Given the description of an element on the screen output the (x, y) to click on. 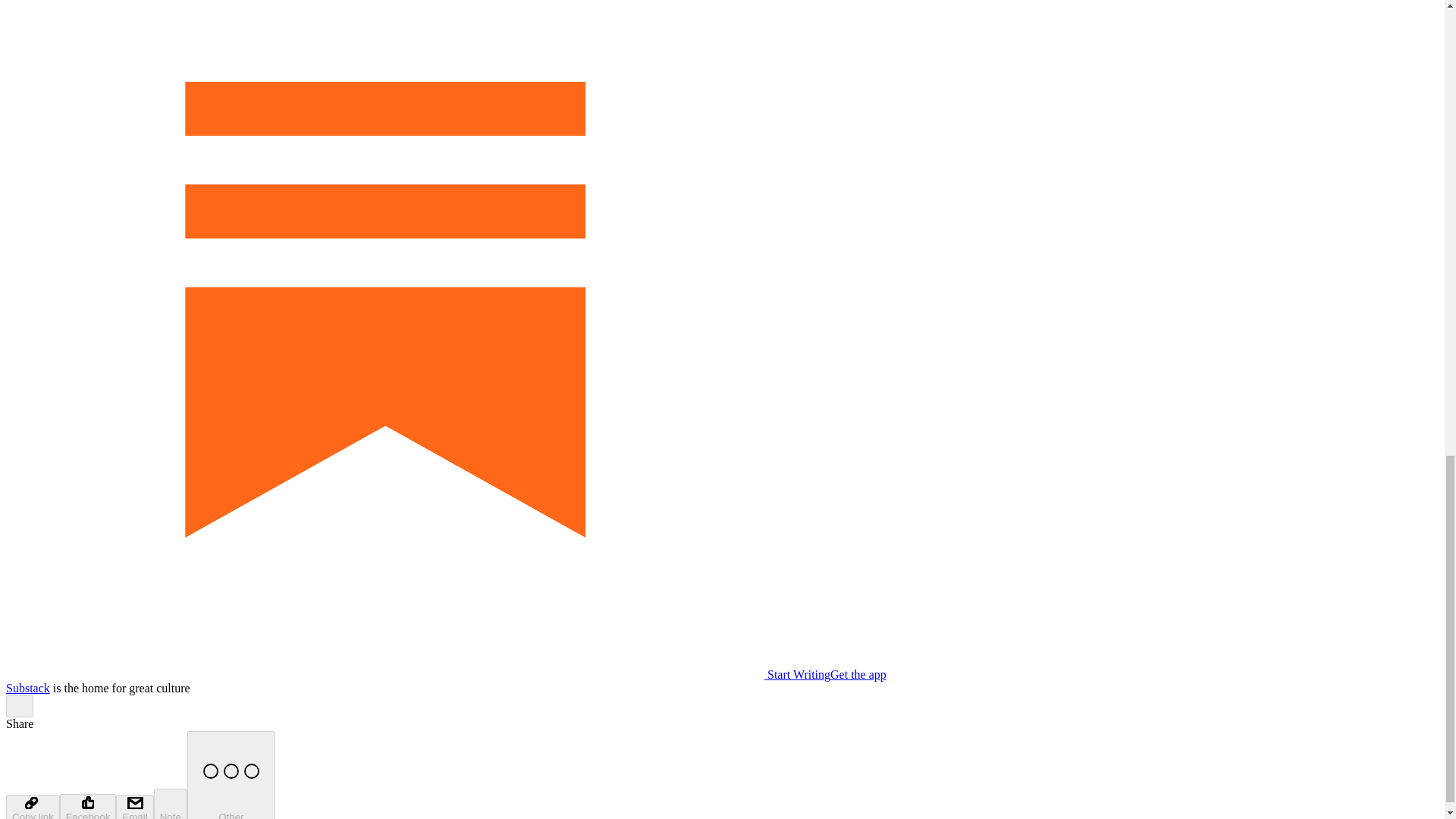
Start Writing (417, 674)
Get the app (857, 674)
Substack (27, 687)
